Given the description of an element on the screen output the (x, y) to click on. 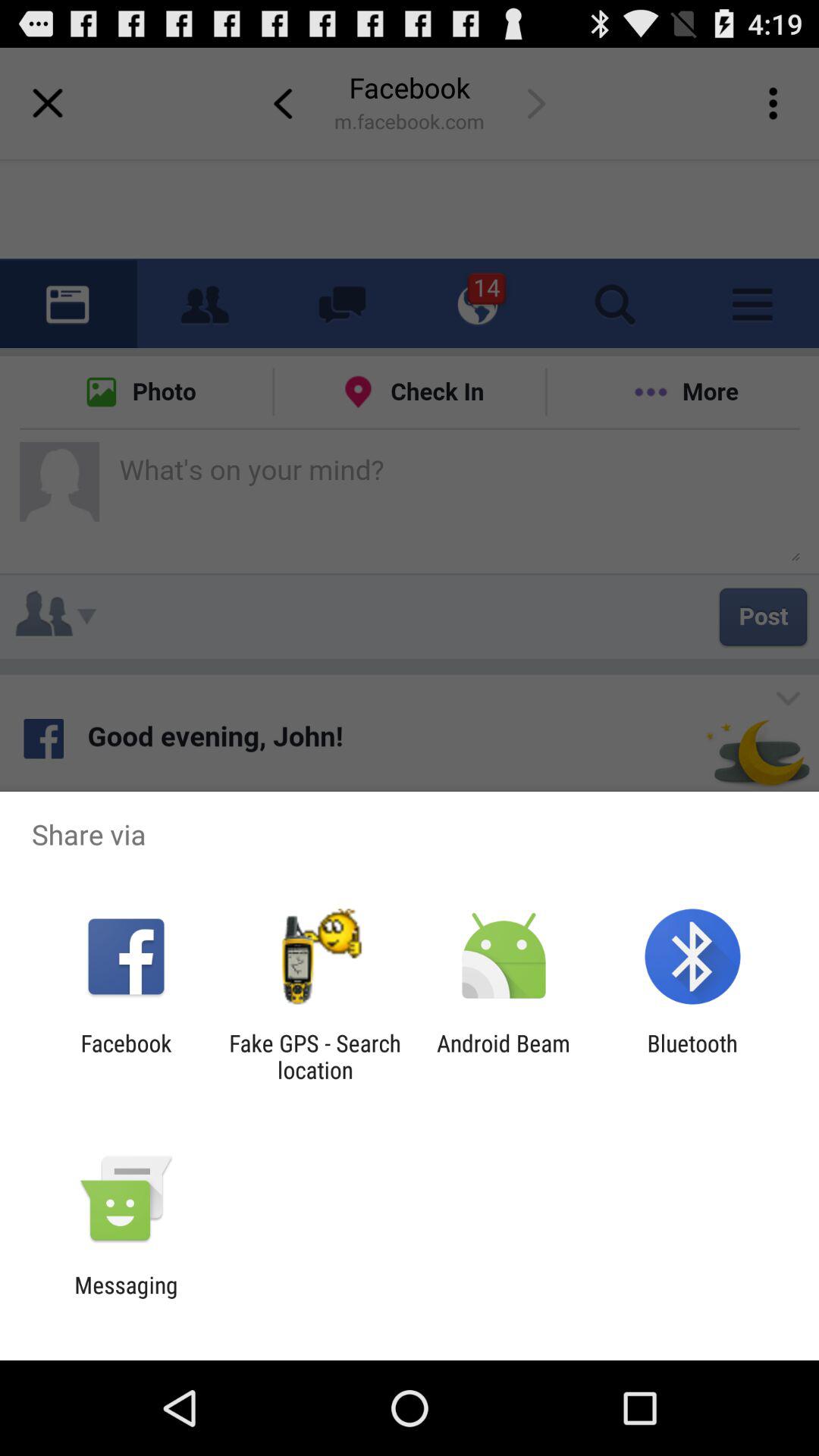
press icon at the bottom right corner (692, 1056)
